Given the description of an element on the screen output the (x, y) to click on. 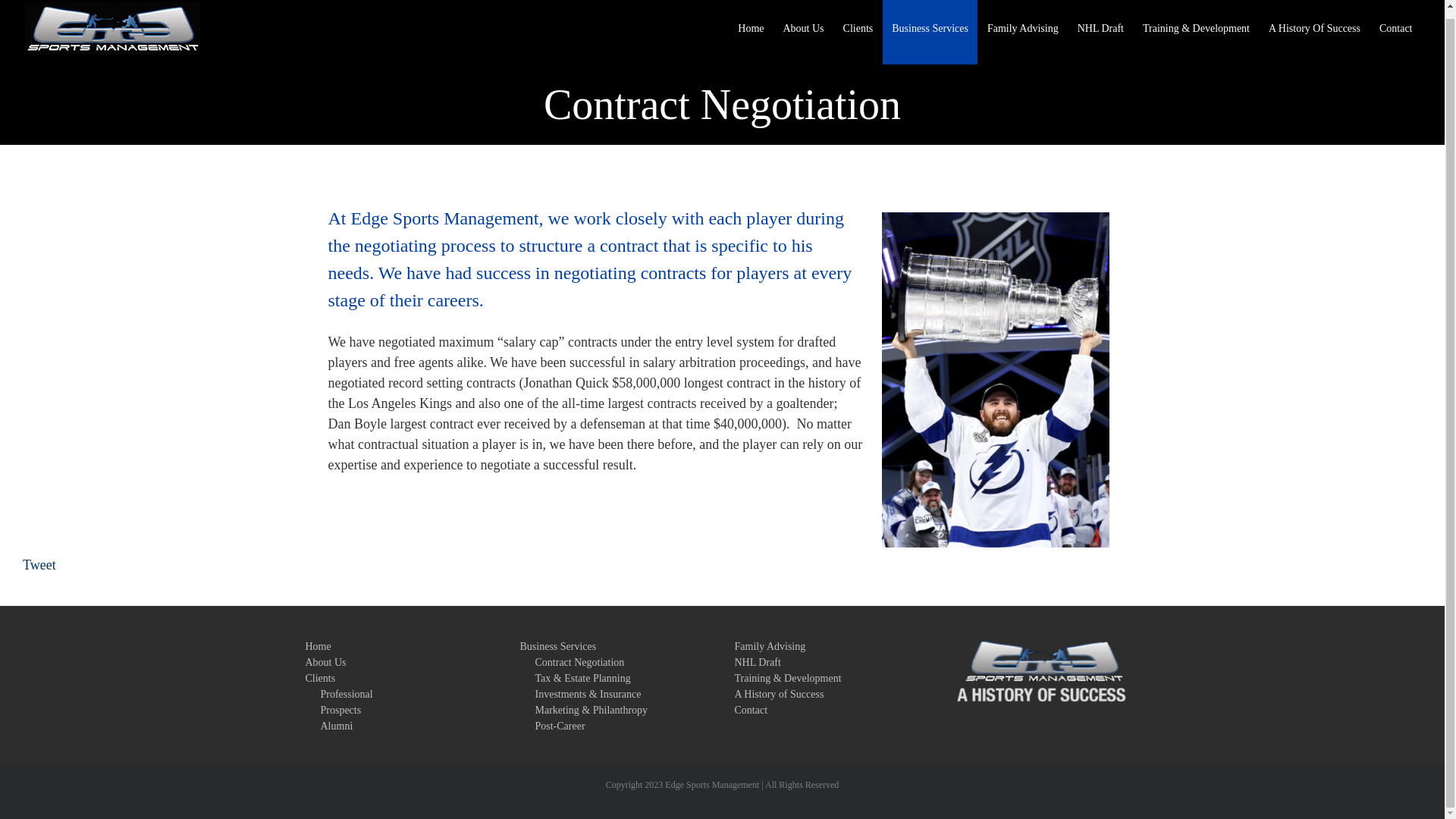
A History Of Success (1314, 32)
Family Advising (1021, 32)
Business Services (930, 32)
About Us (802, 32)
NHL Draft (1099, 32)
